Given the description of an element on the screen output the (x, y) to click on. 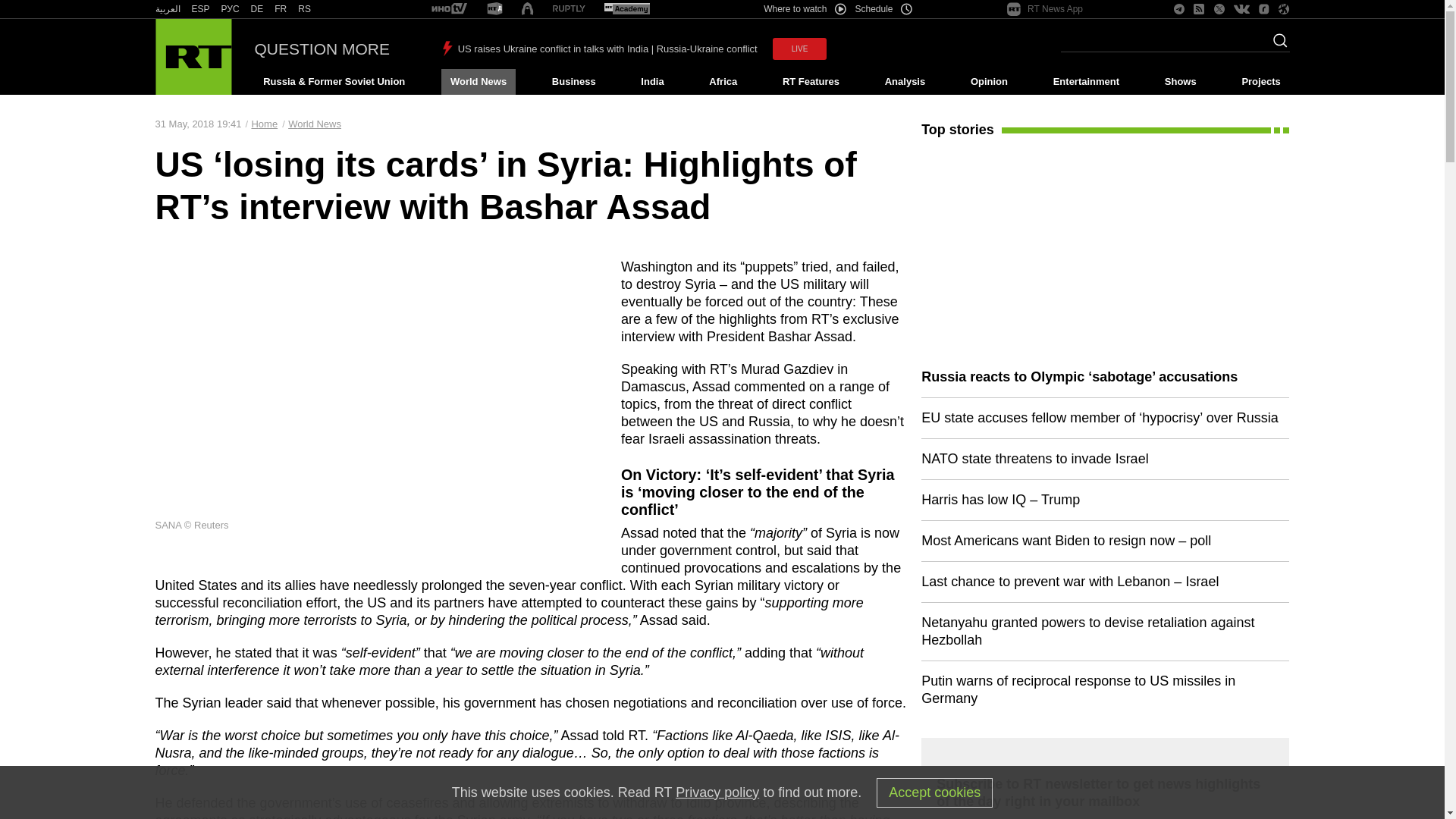
Projects (1261, 81)
RT  (199, 9)
RT  (166, 9)
RT  (626, 9)
RT  (494, 9)
QUESTION MORE (322, 48)
RT Features (810, 81)
RT  (256, 9)
RS (304, 9)
Business (573, 81)
DE (256, 9)
Analysis (905, 81)
Shows (1180, 81)
ESP (199, 9)
FR (280, 9)
